Given the description of an element on the screen output the (x, y) to click on. 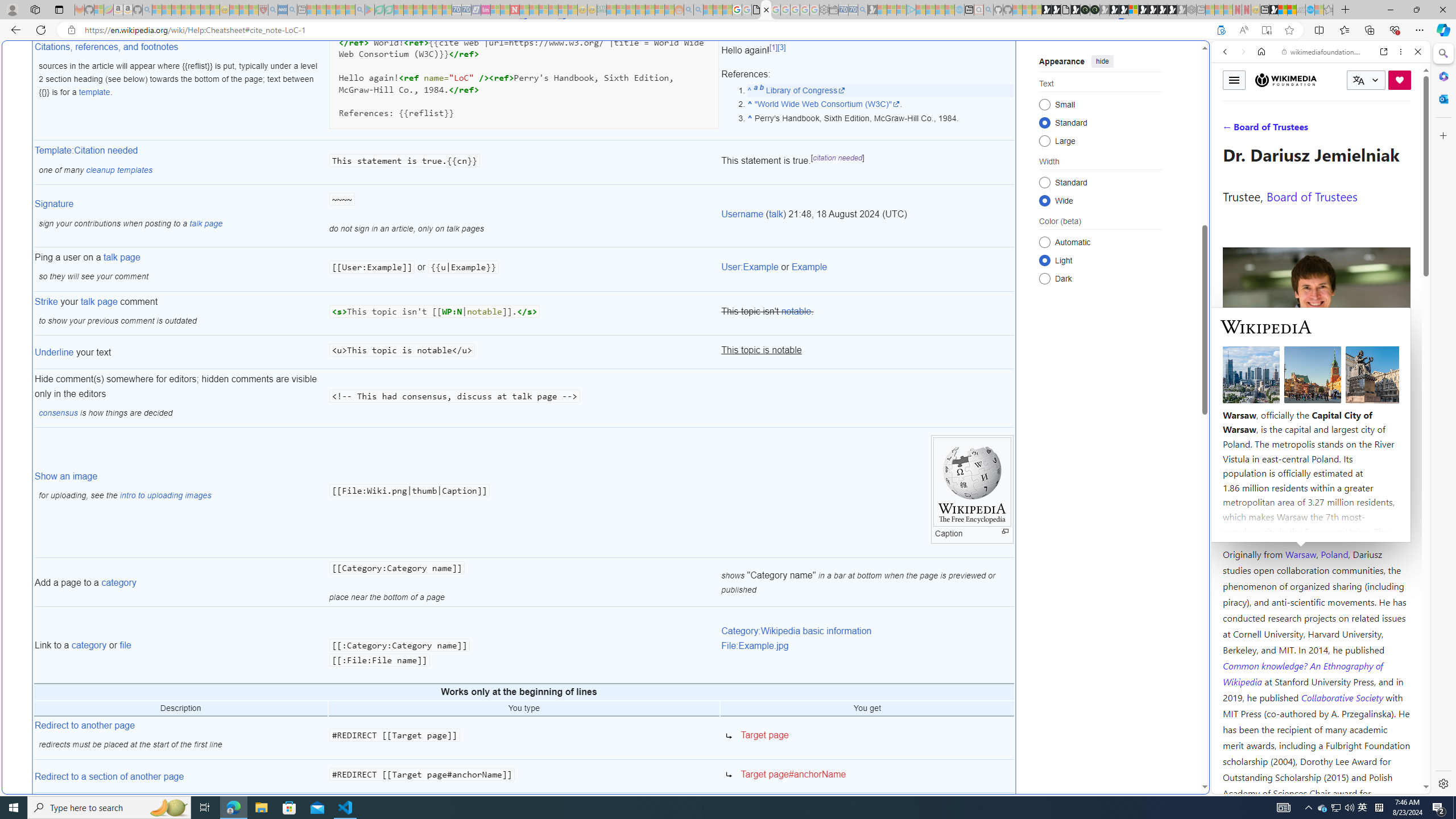
Kozminski University (1316, 486)
notable (795, 311)
Target page (765, 735)
Board of Trustees (1311, 195)
CURRENT LANGUAGE: (1366, 80)
